Given the description of an element on the screen output the (x, y) to click on. 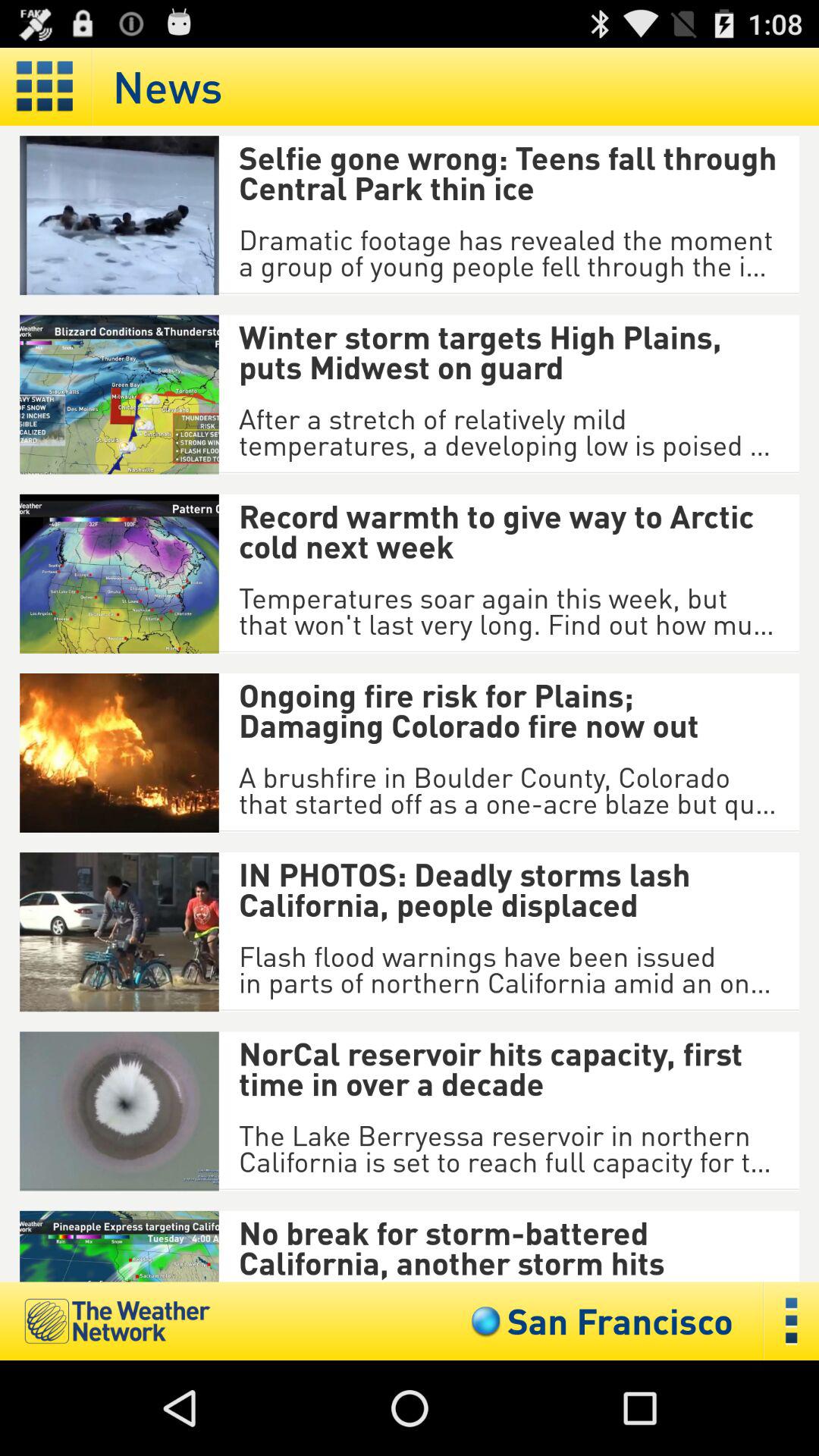
launch icon below the no break for item (598, 1320)
